Given the description of an element on the screen output the (x, y) to click on. 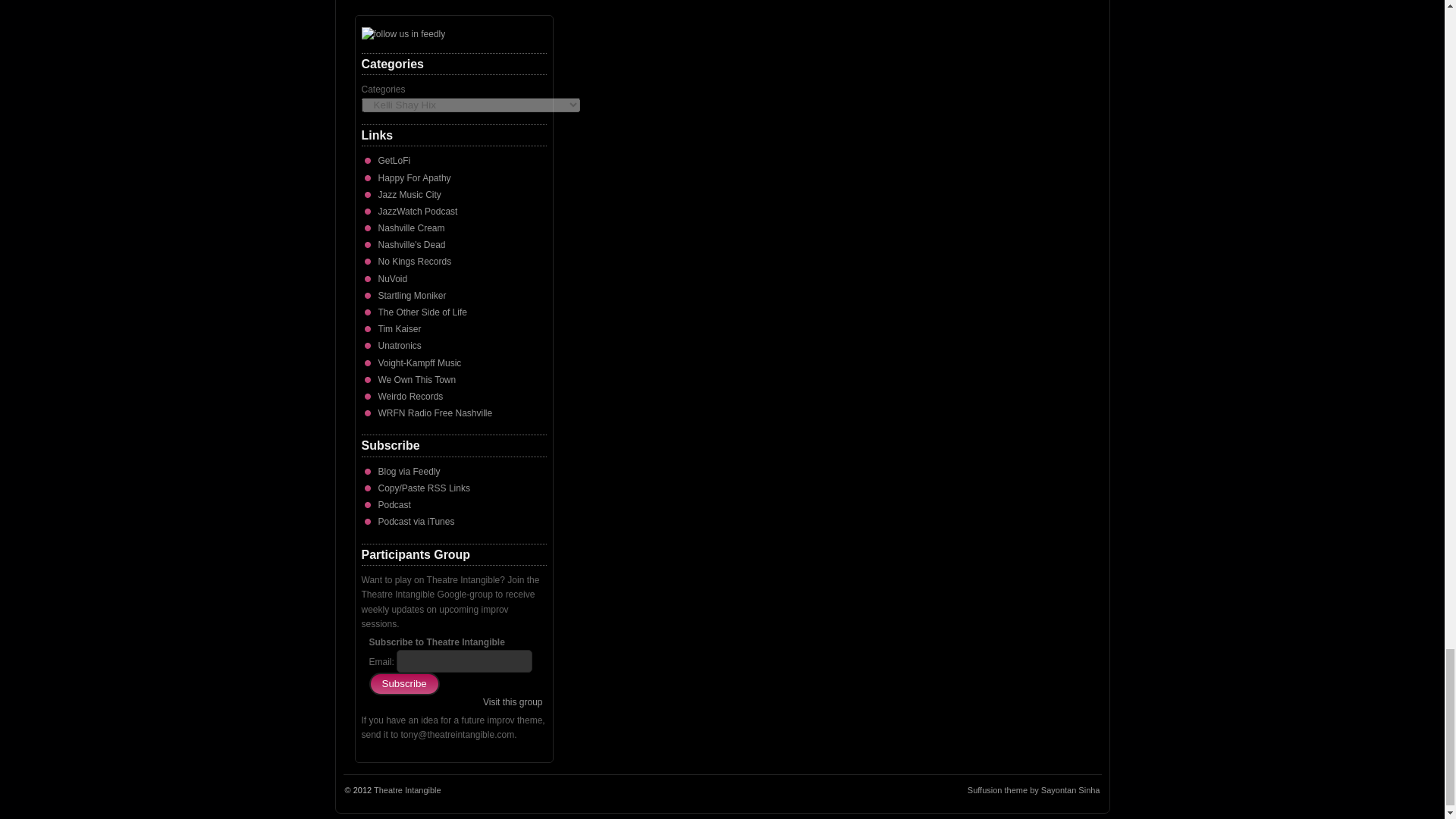
Subscribe (403, 683)
